Given the description of an element on the screen output the (x, y) to click on. 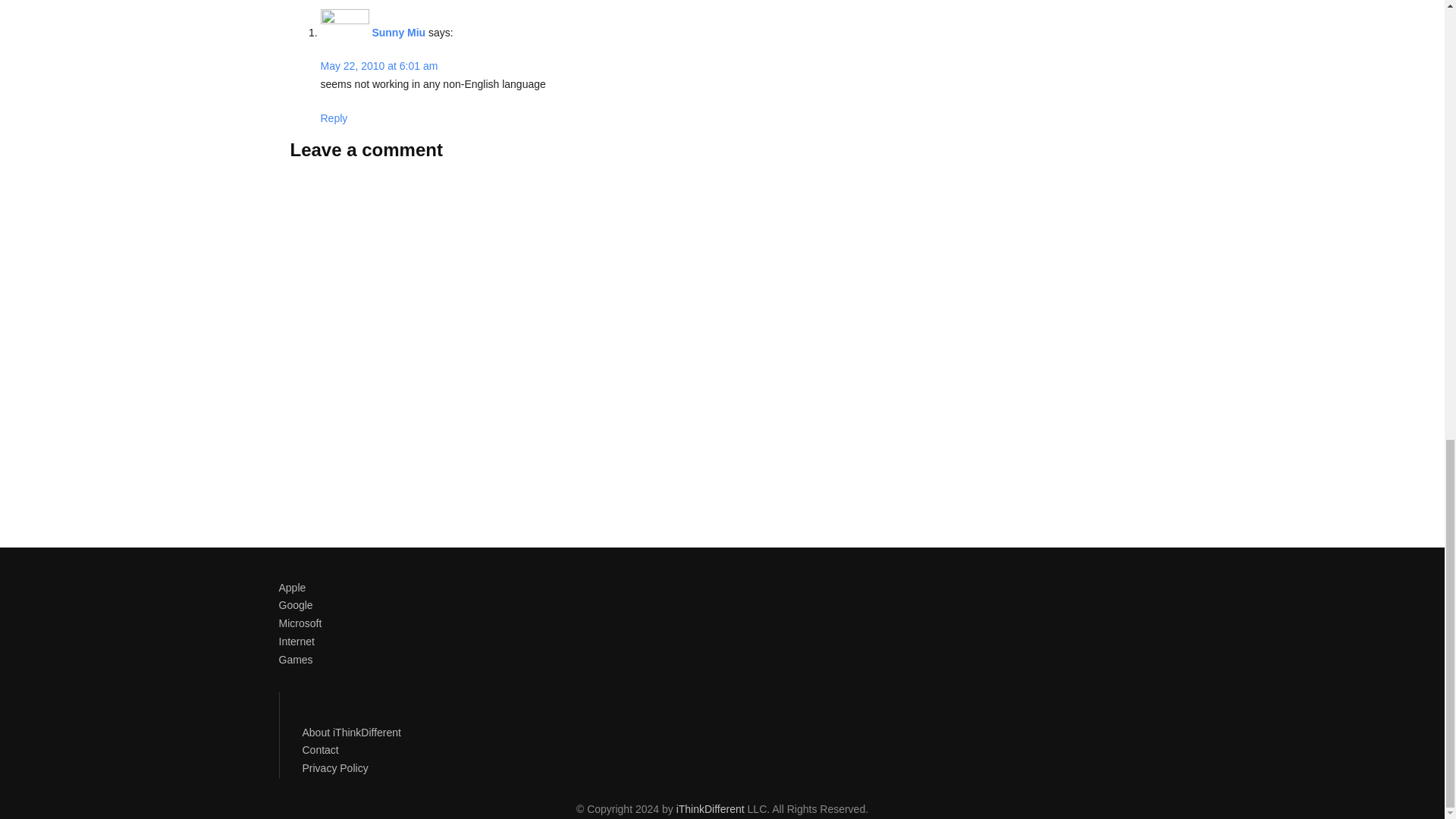
iThinkDifferent - Apple News, Reviews, and Guides (710, 808)
